Given the description of an element on the screen output the (x, y) to click on. 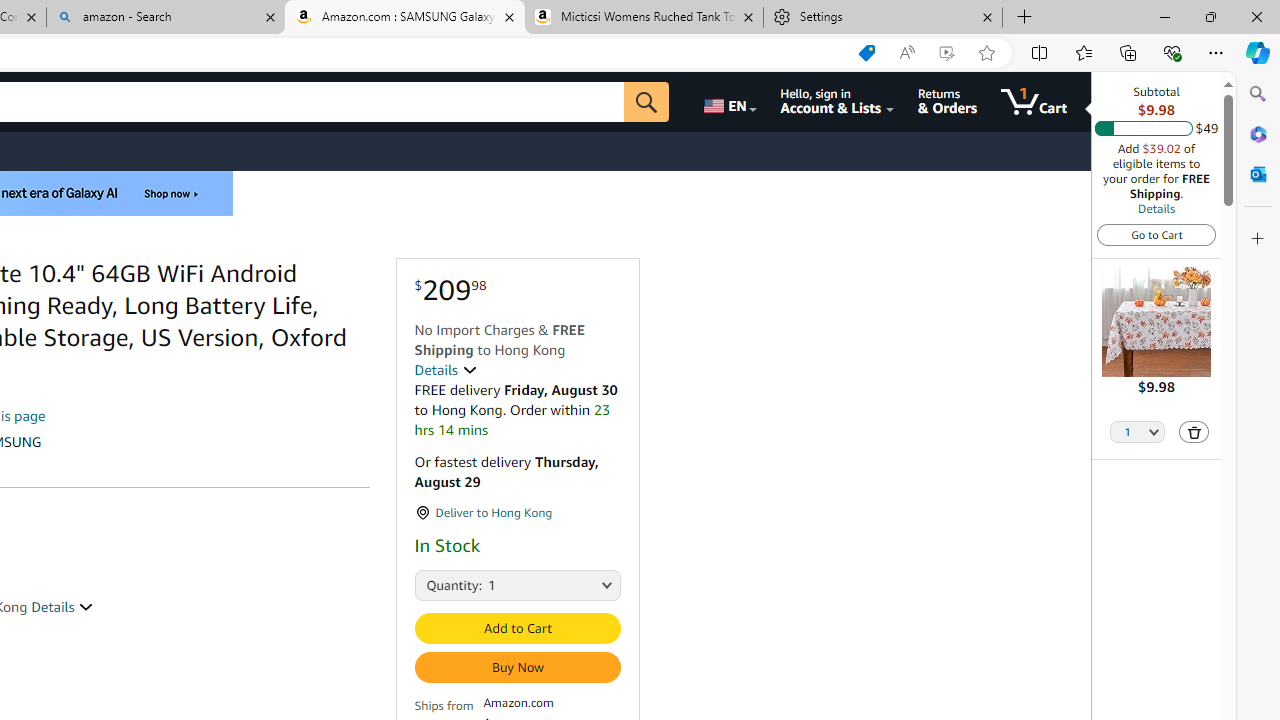
Delete (1194, 431)
Quantity: (432, 584)
Go to Cart (1156, 234)
Quantity Selector (1137, 433)
Add to Cart (516, 628)
Returns & Orders (946, 101)
Go (646, 101)
Choose a language for shopping. (728, 101)
